Given the description of an element on the screen output the (x, y) to click on. 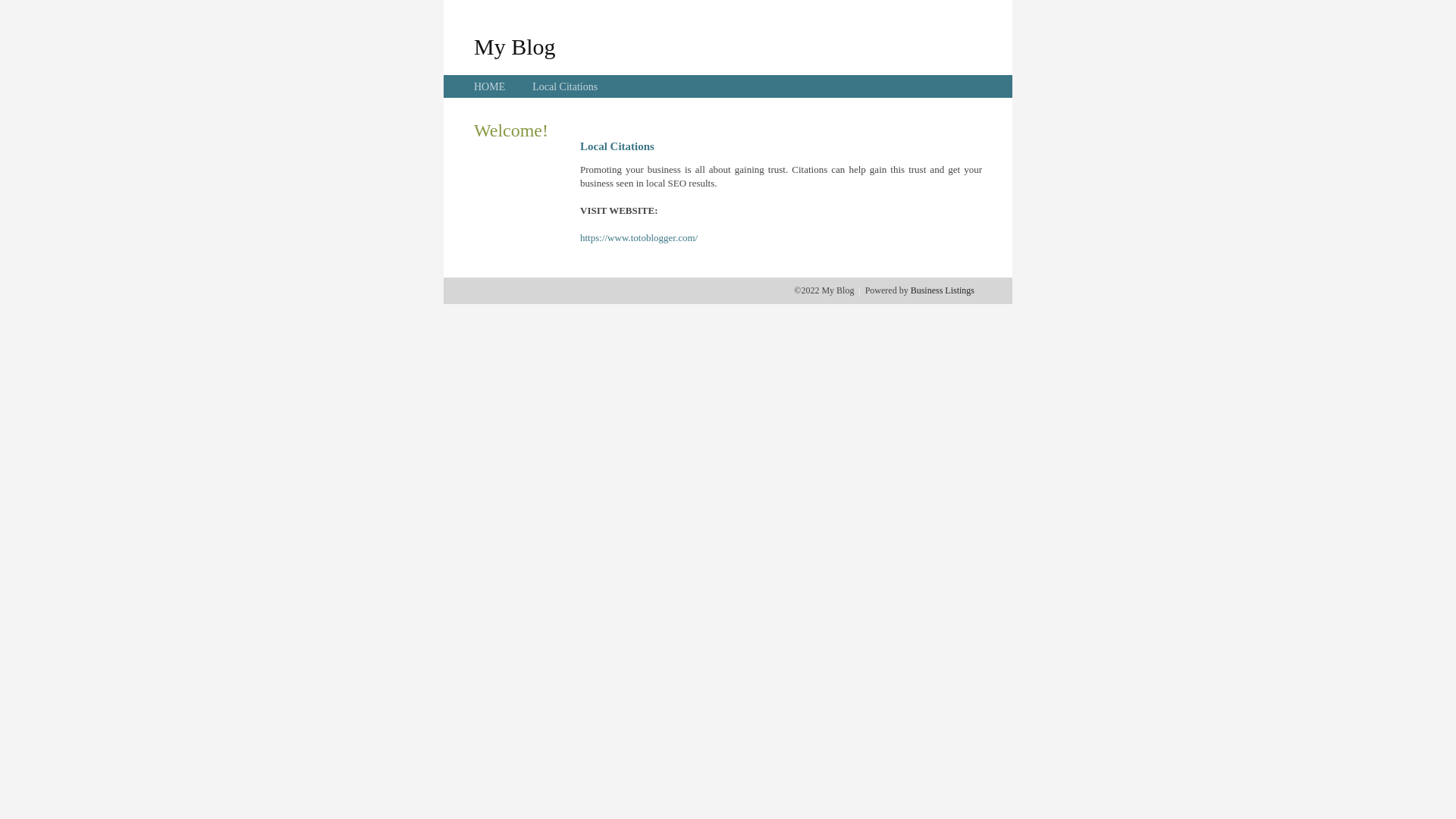
Local Citations Element type: text (564, 86)
My Blog Element type: text (514, 46)
https://www.totoblogger.com/ Element type: text (638, 237)
Business Listings Element type: text (942, 290)
HOME Element type: text (489, 86)
